Given the description of an element on the screen output the (x, y) to click on. 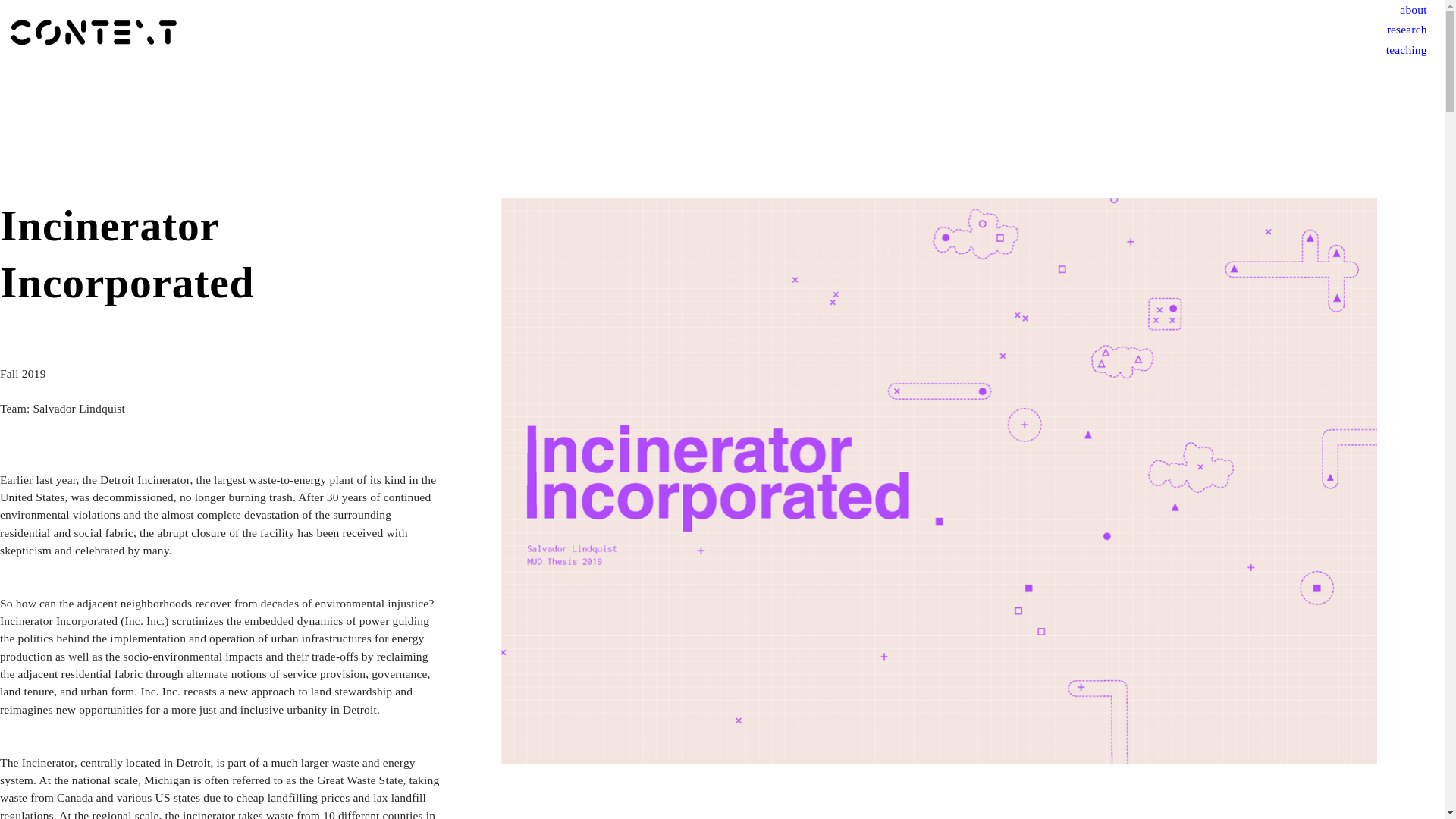
about (1412, 10)
research (1406, 29)
teaching (1406, 50)
